Given the description of an element on the screen output the (x, y) to click on. 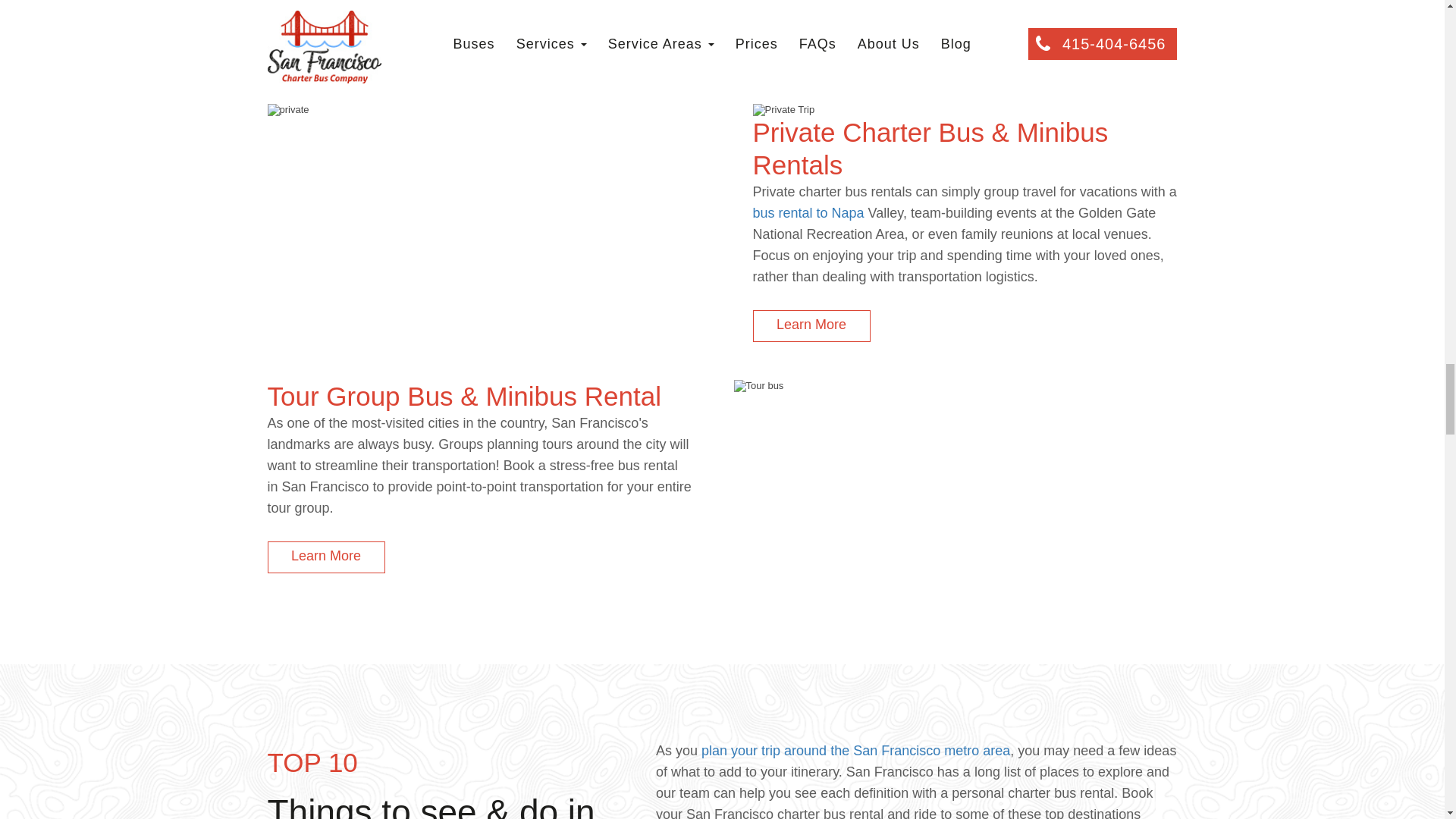
Tour groups page (325, 557)
